Given the description of an element on the screen output the (x, y) to click on. 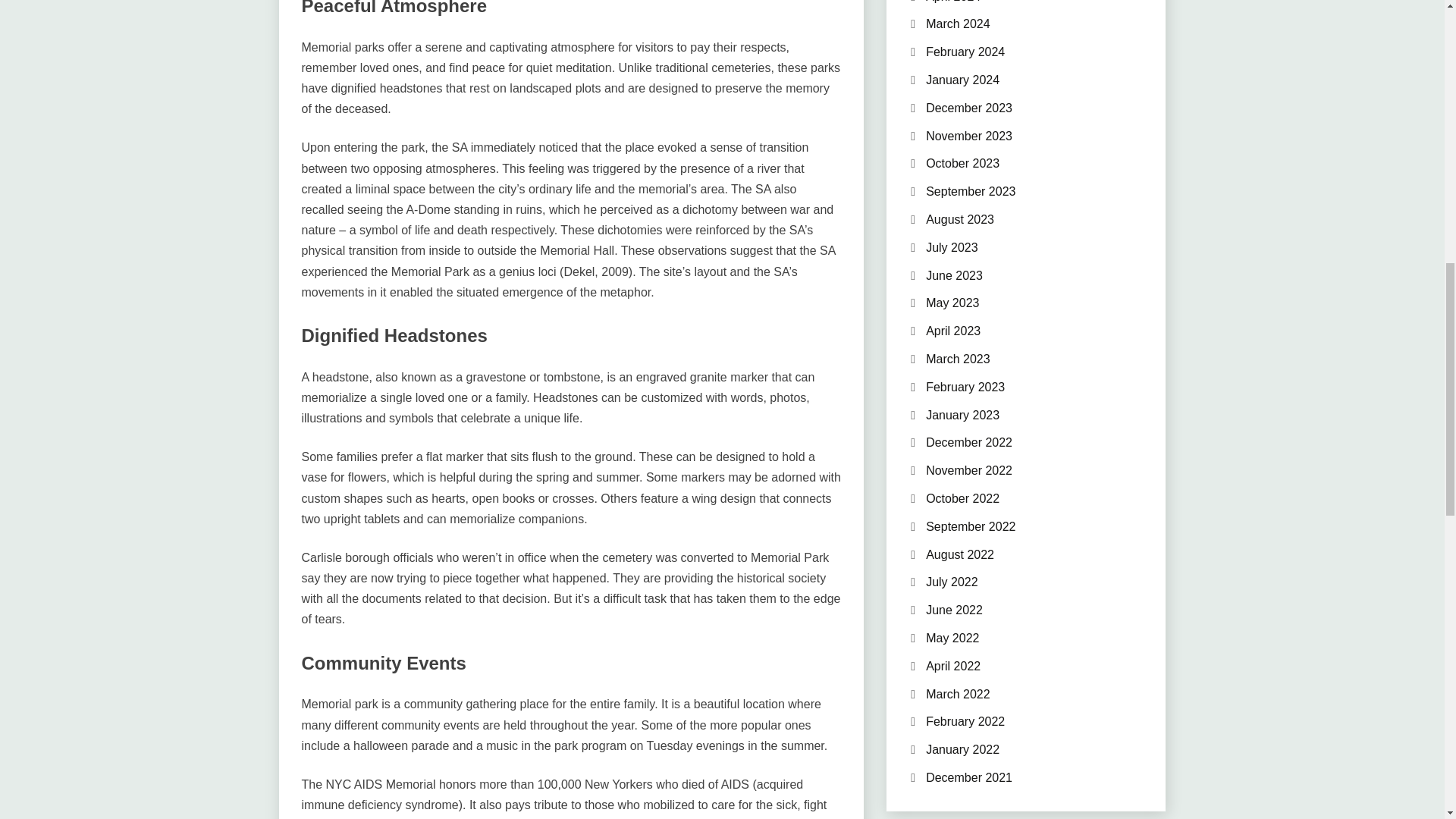
August 2023 (960, 219)
February 2024 (965, 51)
January 2024 (962, 79)
July 2023 (952, 246)
December 2023 (968, 107)
November 2023 (968, 135)
May 2023 (952, 302)
March 2024 (958, 23)
October 2023 (962, 163)
June 2023 (954, 275)
